Given the description of an element on the screen output the (x, y) to click on. 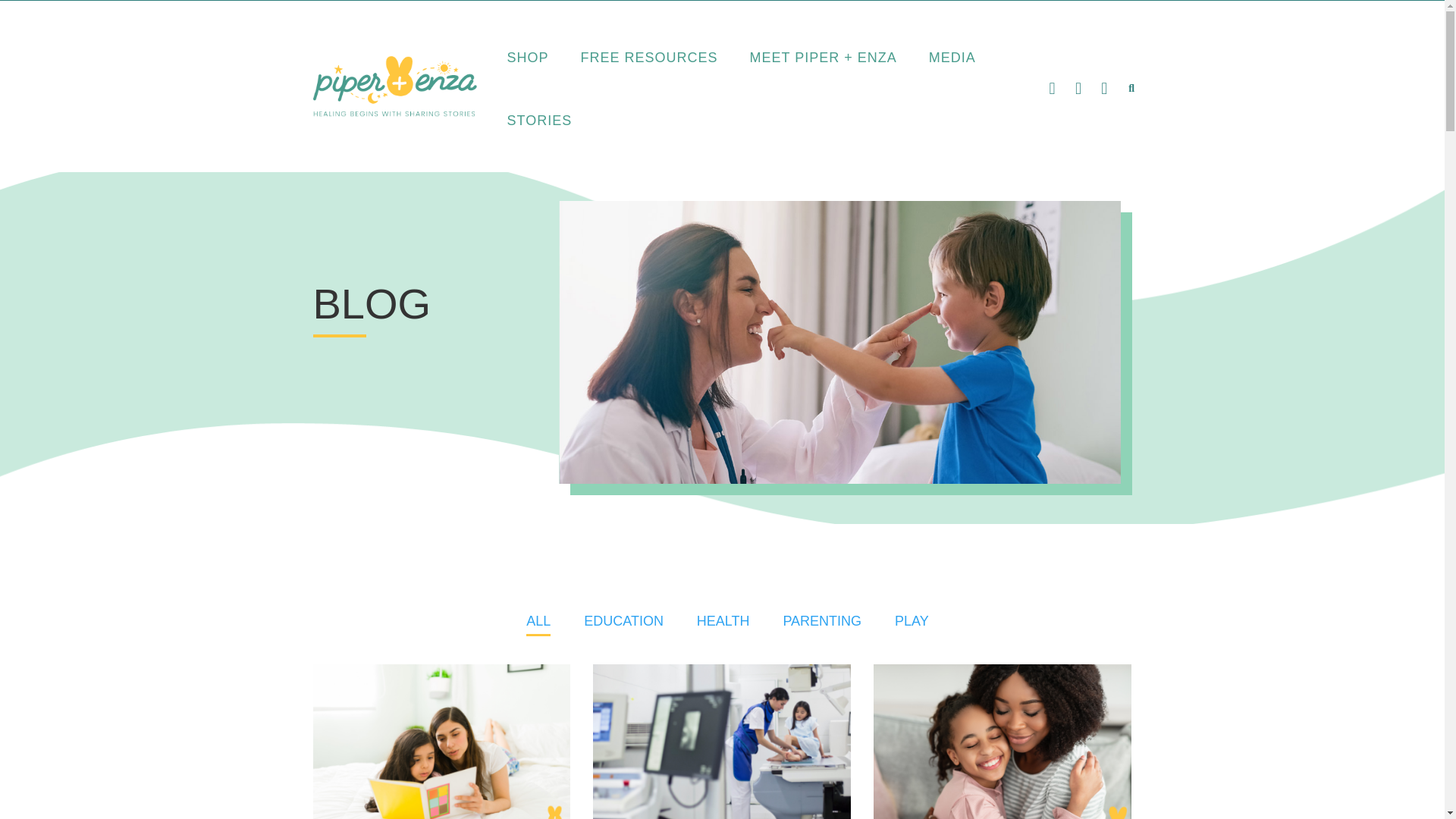
Group 67 (394, 86)
PARENTING (822, 620)
MEDIA (951, 57)
SHOP (527, 57)
EDUCATION (623, 620)
STORIES (539, 120)
FREE RESOURCES (648, 57)
HEALTH (723, 620)
ALL (537, 620)
PLAY (911, 620)
